Given the description of an element on the screen output the (x, y) to click on. 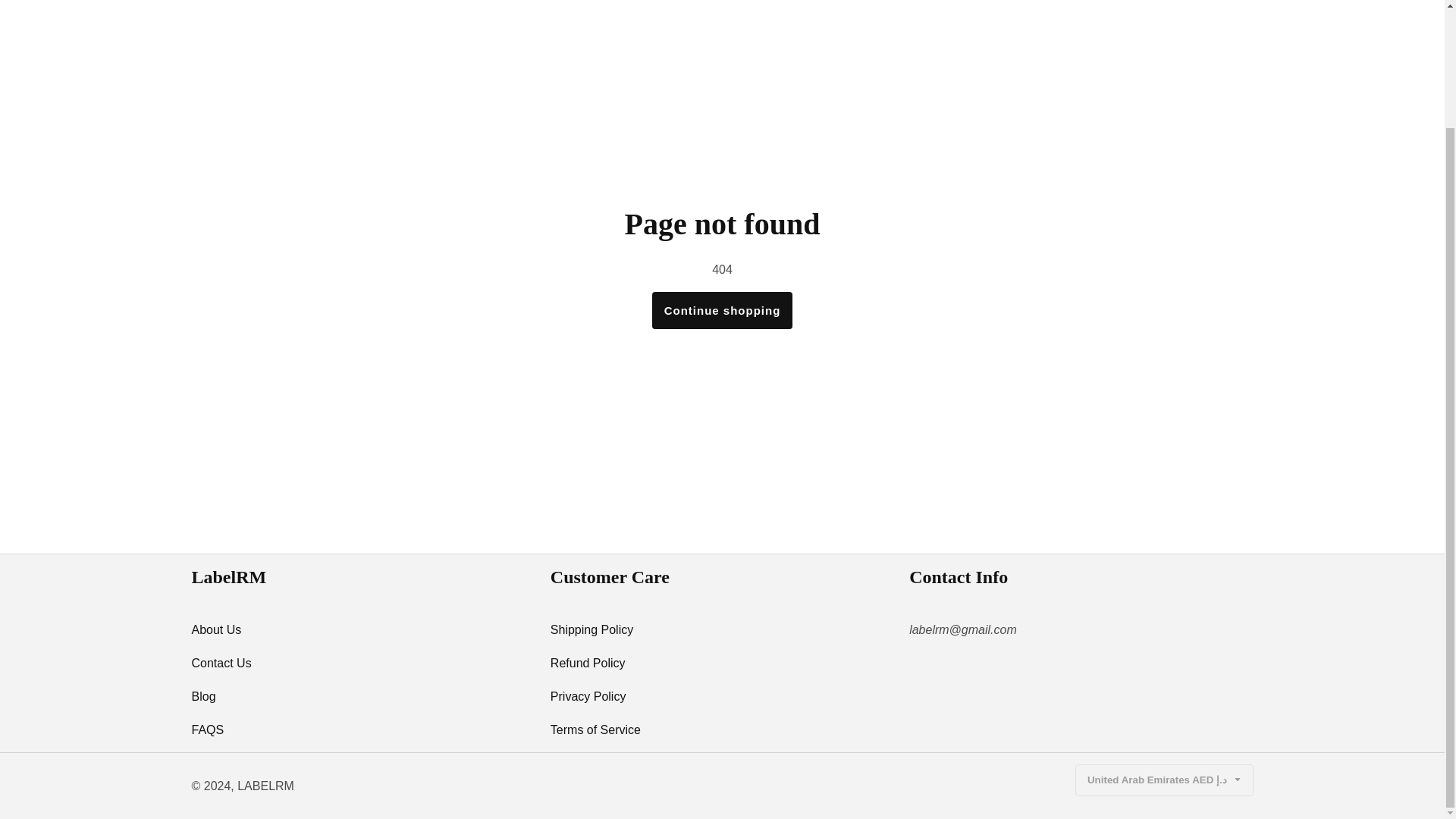
Caret Down (1235, 778)
